Given the description of an element on the screen output the (x, y) to click on. 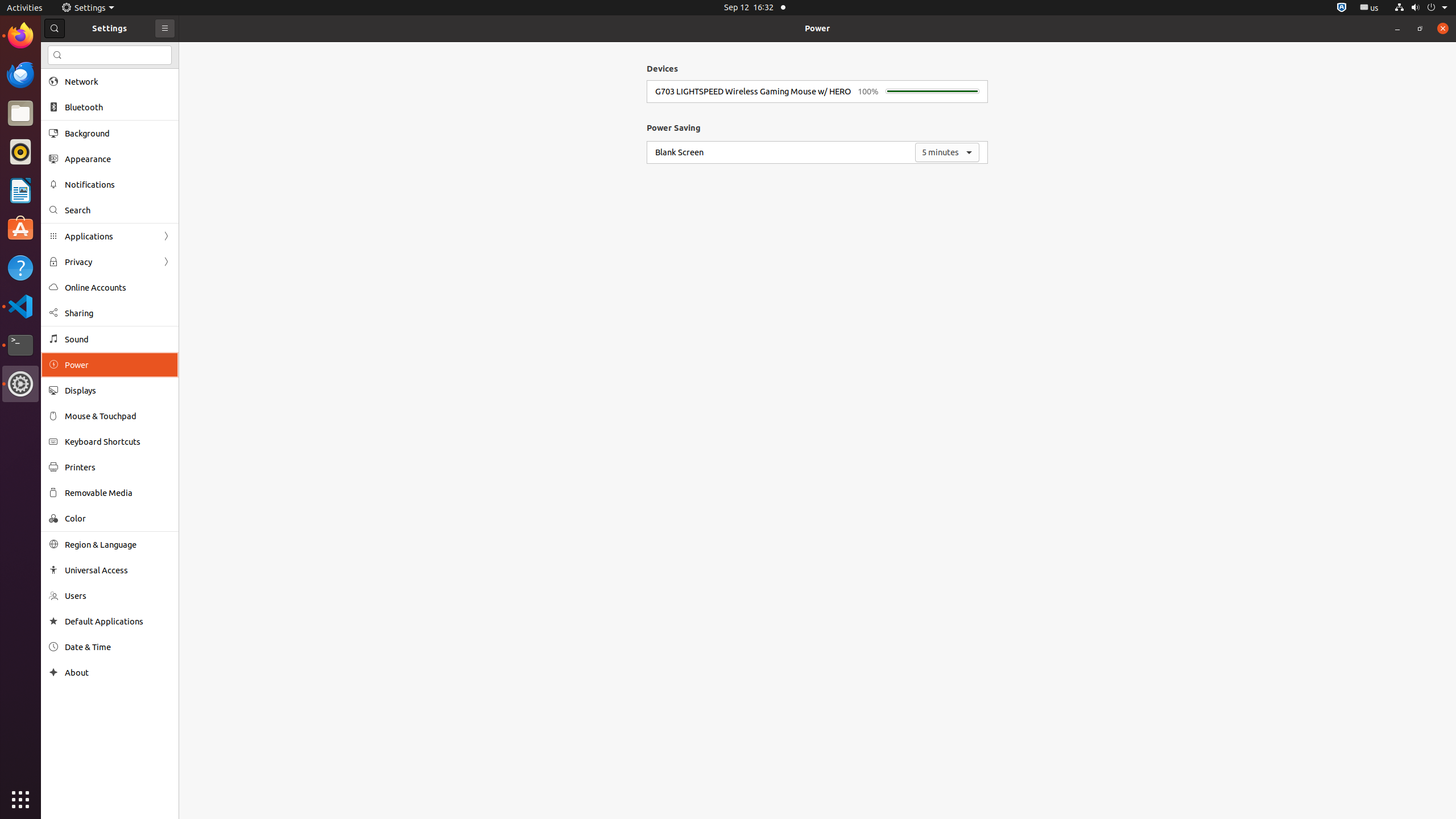
Privacy Element type: label (109, 261)
Minimize Element type: push-button (1397, 27)
Trash Element type: label (75, 108)
Online Accounts Element type: label (117, 287)
